Given the description of an element on the screen output the (x, y) to click on. 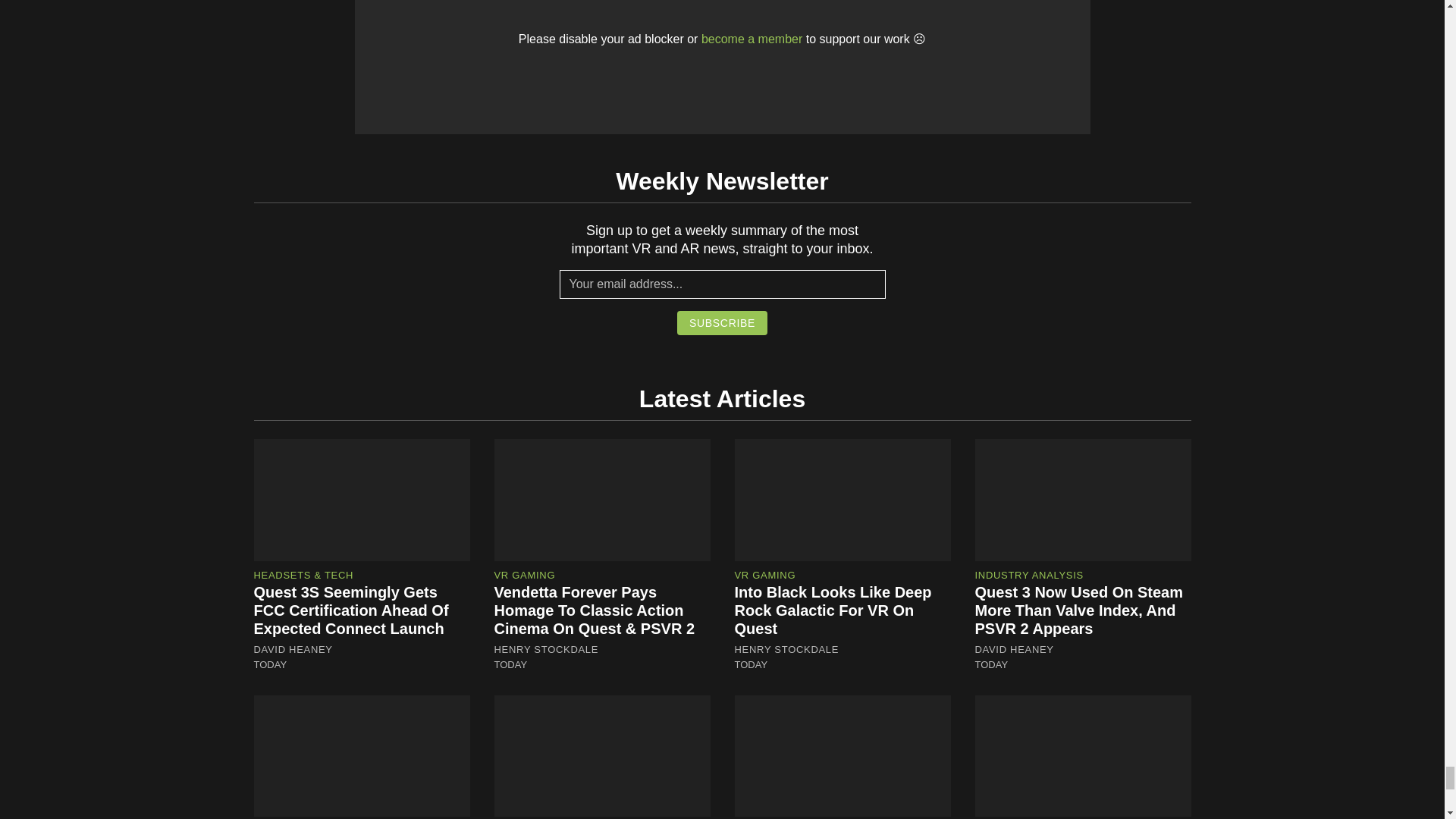
Subscribe (722, 322)
Subscribe (722, 322)
become a member (751, 38)
